Given the description of an element on the screen output the (x, y) to click on. 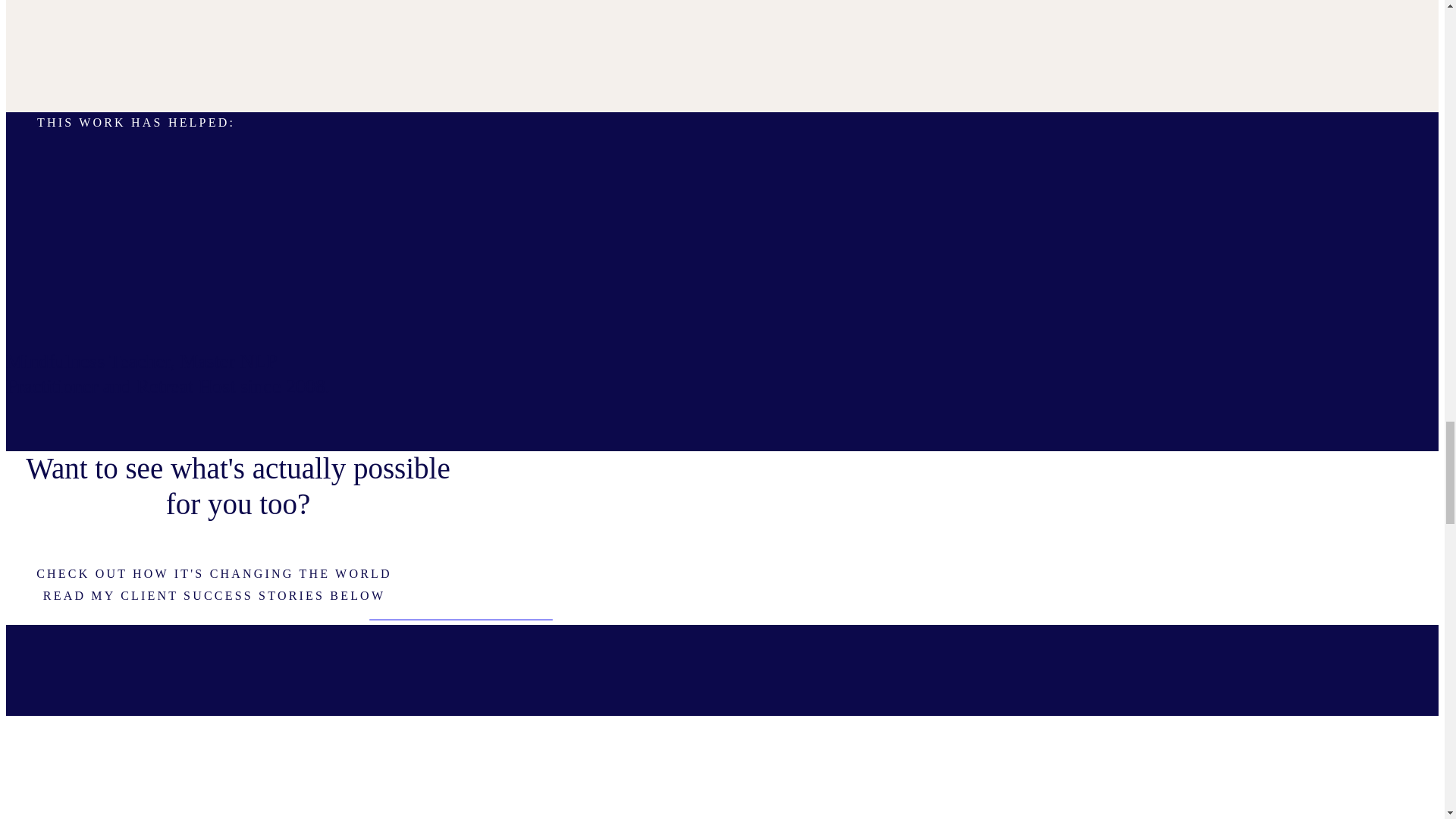
 CLIENT SUCCESS STORIES (460, 615)
